Given the description of an element on the screen output the (x, y) to click on. 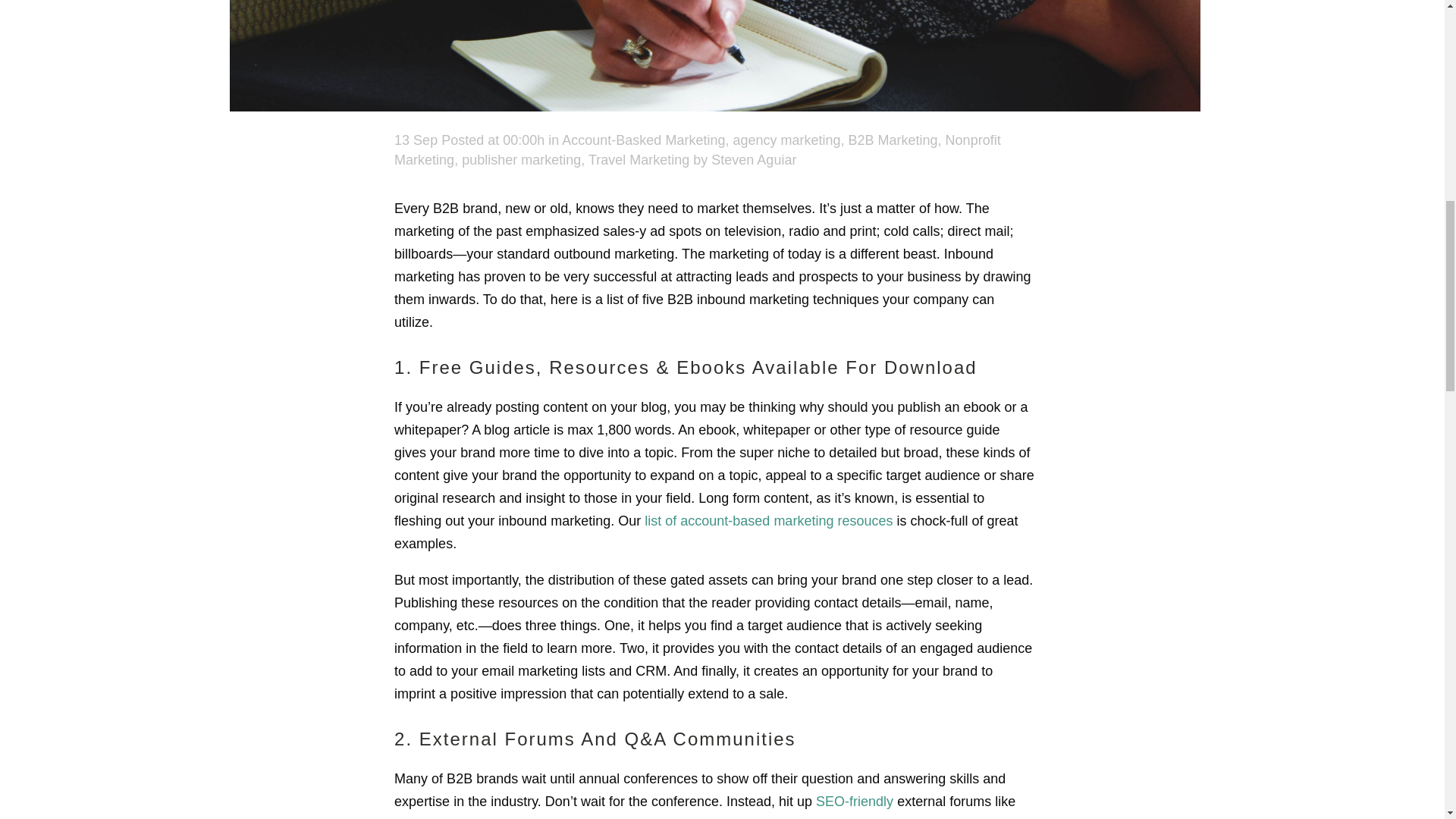
Nonprofit Marketing (697, 149)
Travel Marketing (638, 159)
B2B Marketing (892, 140)
publisher marketing (520, 159)
agency marketing (786, 140)
Steven Aguiar (753, 159)
list of account-based marketing resouces (768, 520)
SEO-friendly (854, 801)
Account-Basked Marketing (643, 140)
